Given the description of an element on the screen output the (x, y) to click on. 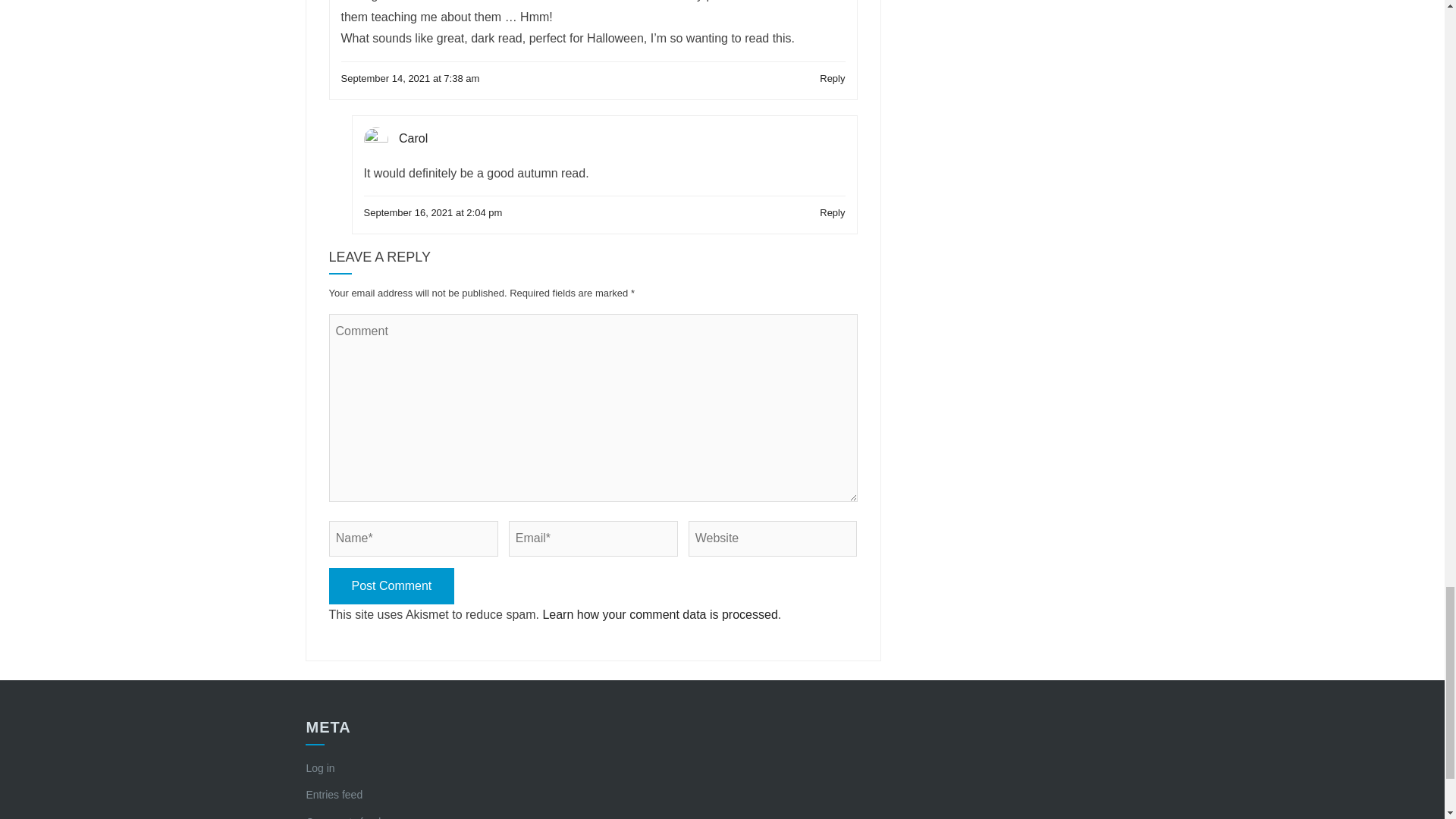
Post Comment (391, 586)
